Given the description of an element on the screen output the (x, y) to click on. 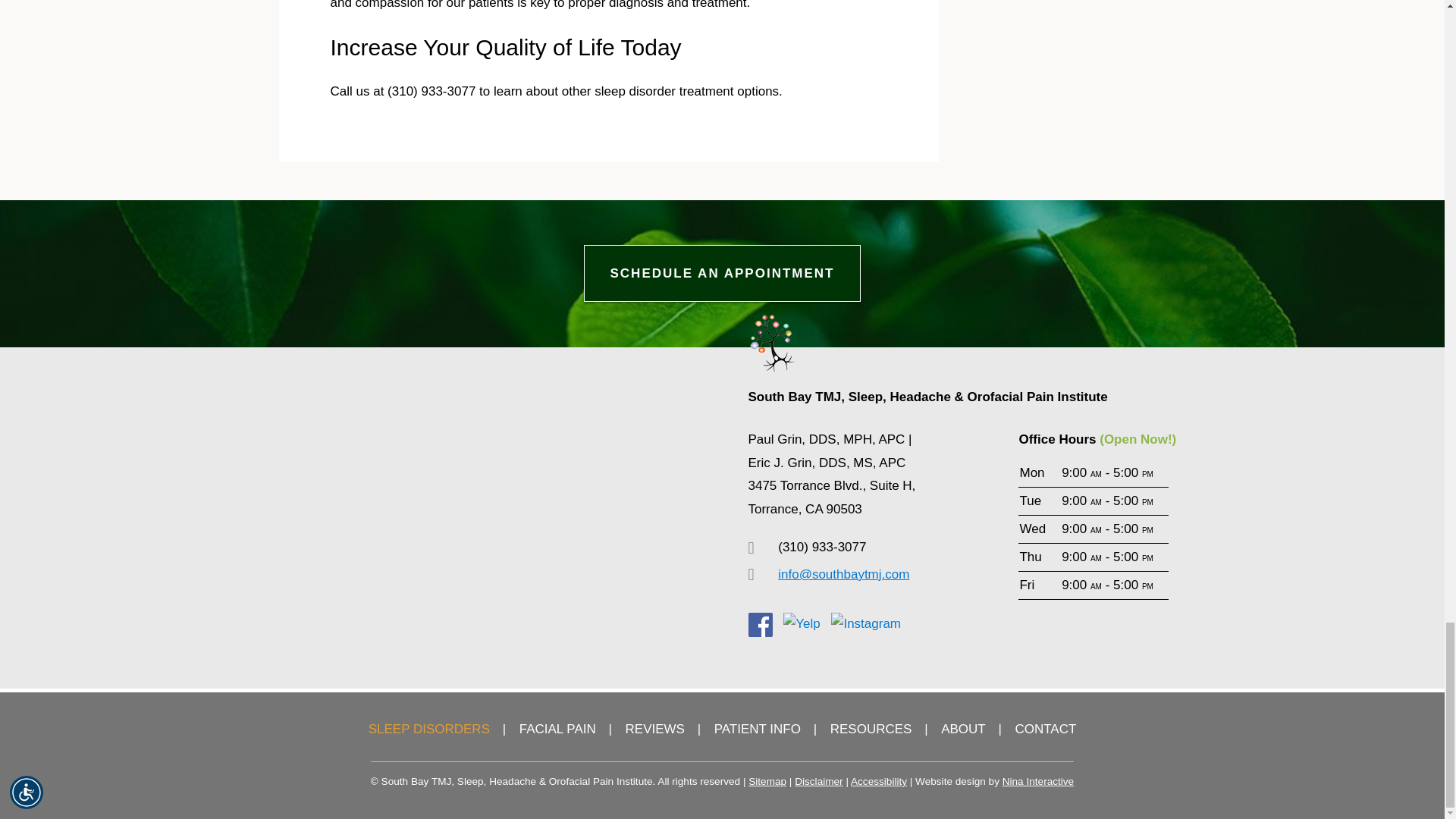
Follow us on Instagram (866, 624)
Find us on Yelp (801, 624)
Like us on Facebook (759, 624)
